Given the description of an element on the screen output the (x, y) to click on. 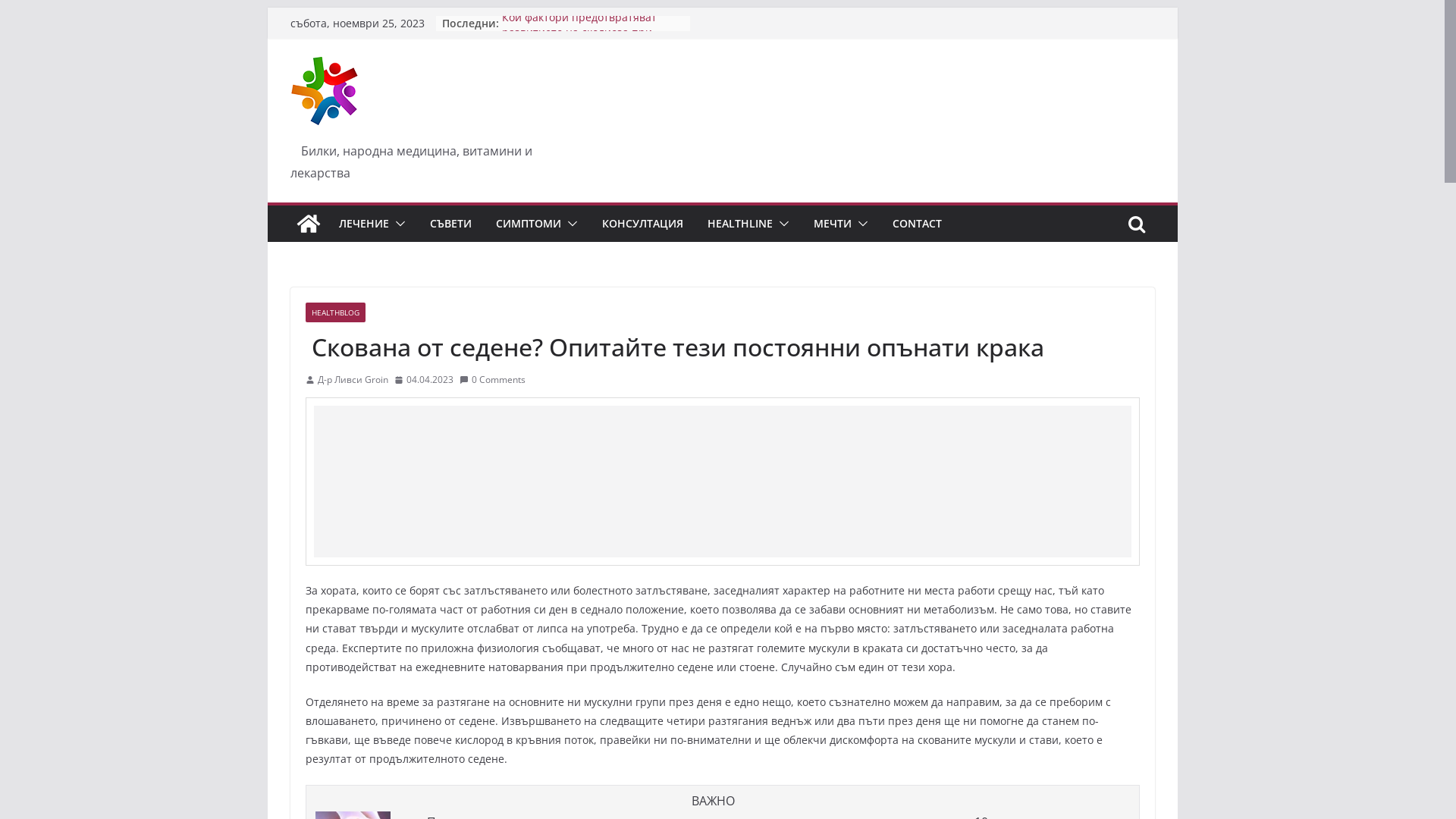
0 Comments Element type: text (492, 379)
HEALTHBLOG Element type: text (334, 312)
04.04.2023 Element type: text (423, 379)
Advertisement Element type: hover (722, 481)
HEALTHLINE Element type: text (738, 223)
CONTACT Element type: text (916, 223)
Skip to content Element type: text (266, 6)
